Given the description of an element on the screen output the (x, y) to click on. 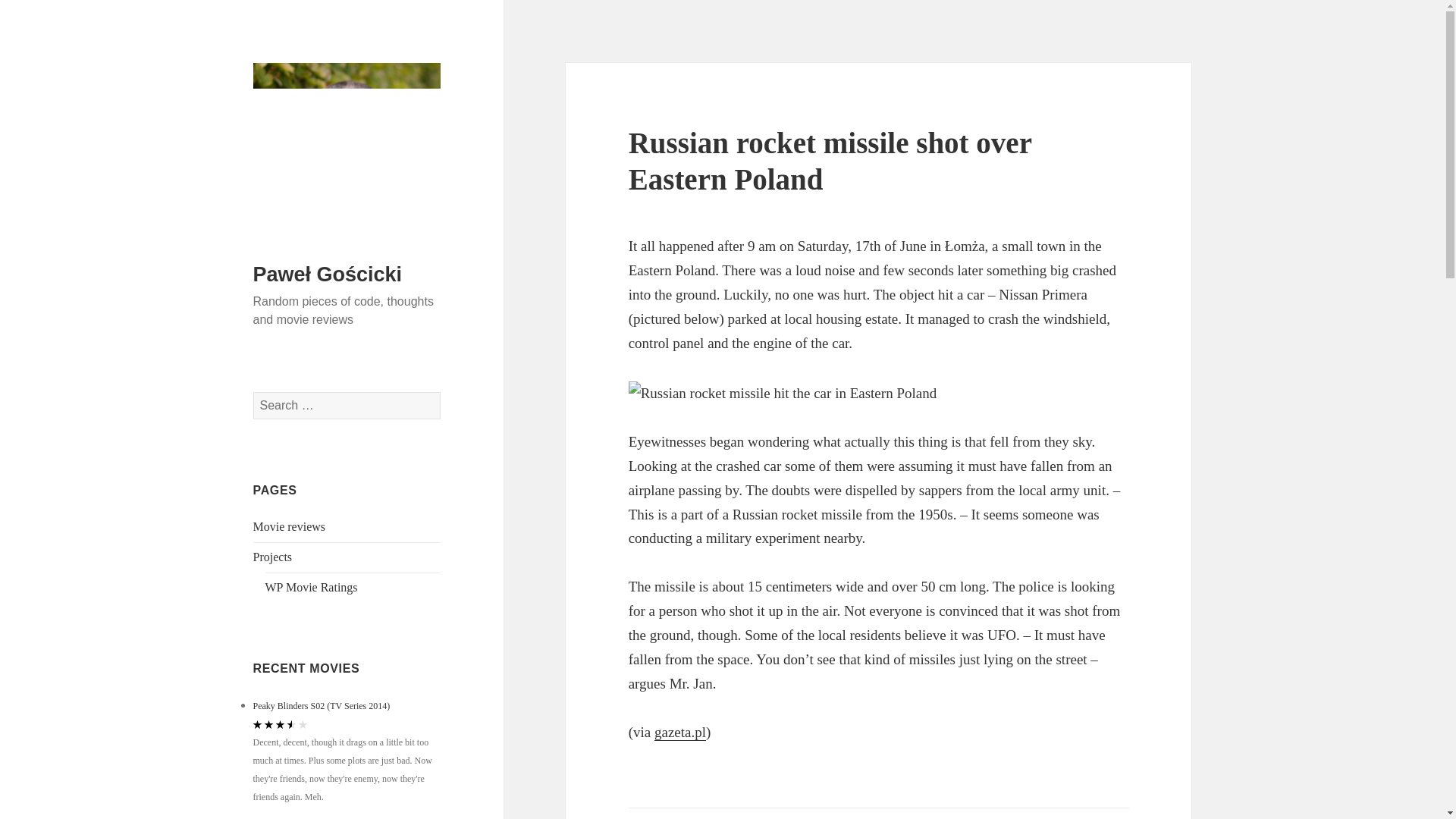
Projects (272, 556)
WP Movie Ratings (311, 586)
Movie reviews (289, 526)
gazeta.pl (679, 732)
